Given the description of an element on the screen output the (x, y) to click on. 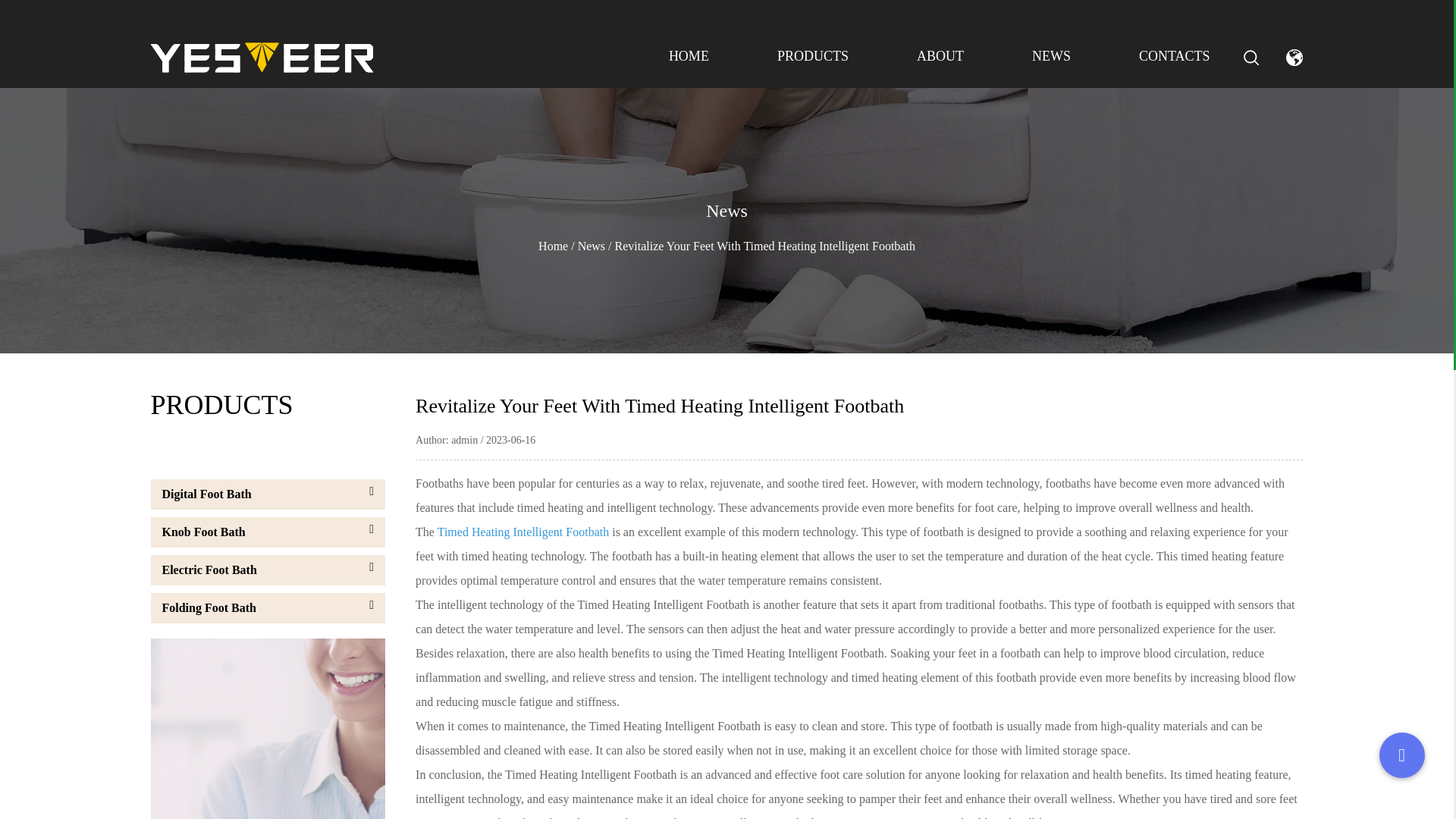
ABOUT (940, 56)
NEWS (1051, 56)
PRODUCTS (812, 56)
HOME (688, 56)
CONTACTS (1173, 56)
